Given the description of an element on the screen output the (x, y) to click on. 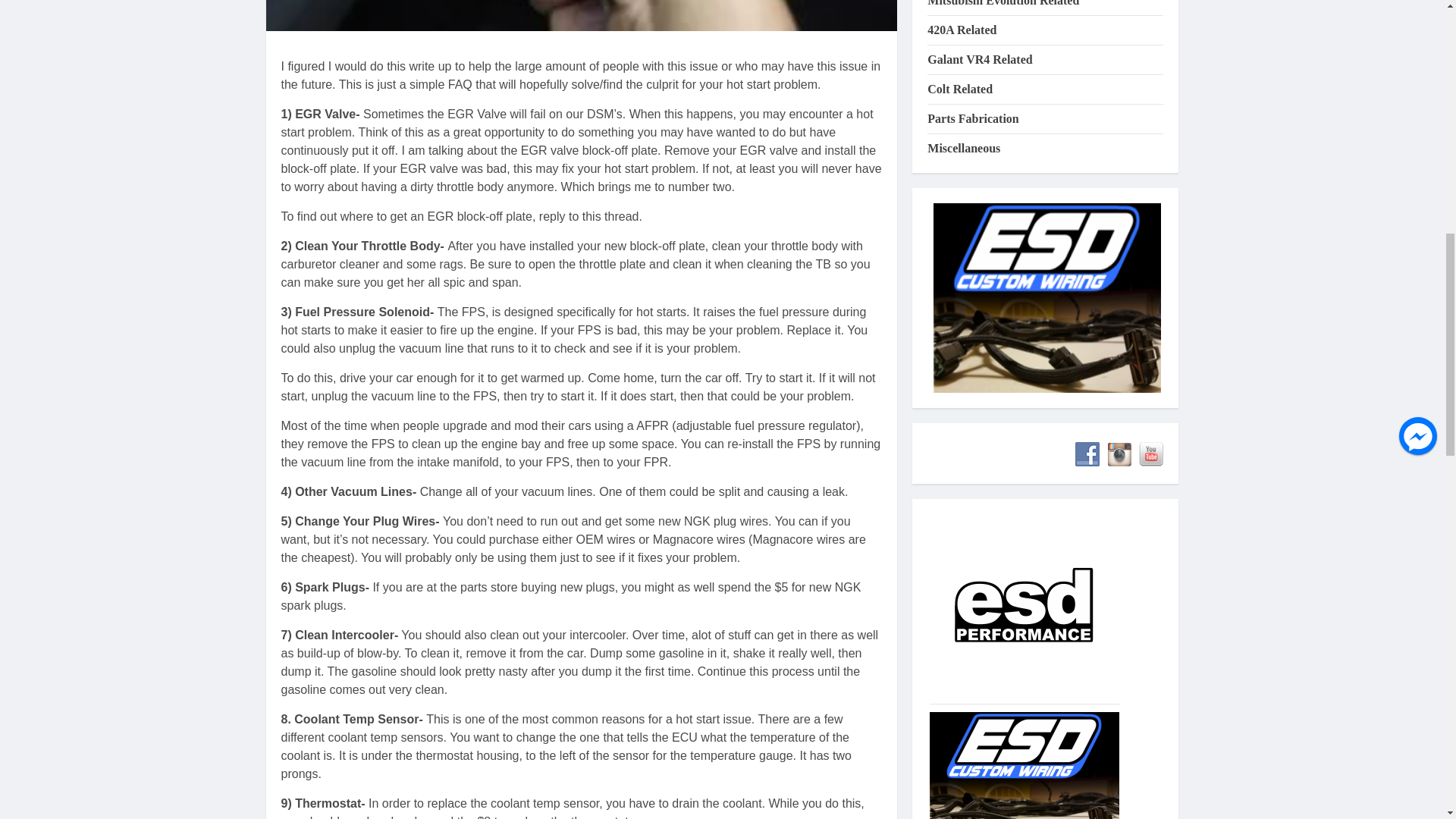
 Instagram (1118, 317)
 YouTube (1150, 317)
 Facebook (1087, 317)
